Given the description of an element on the screen output the (x, y) to click on. 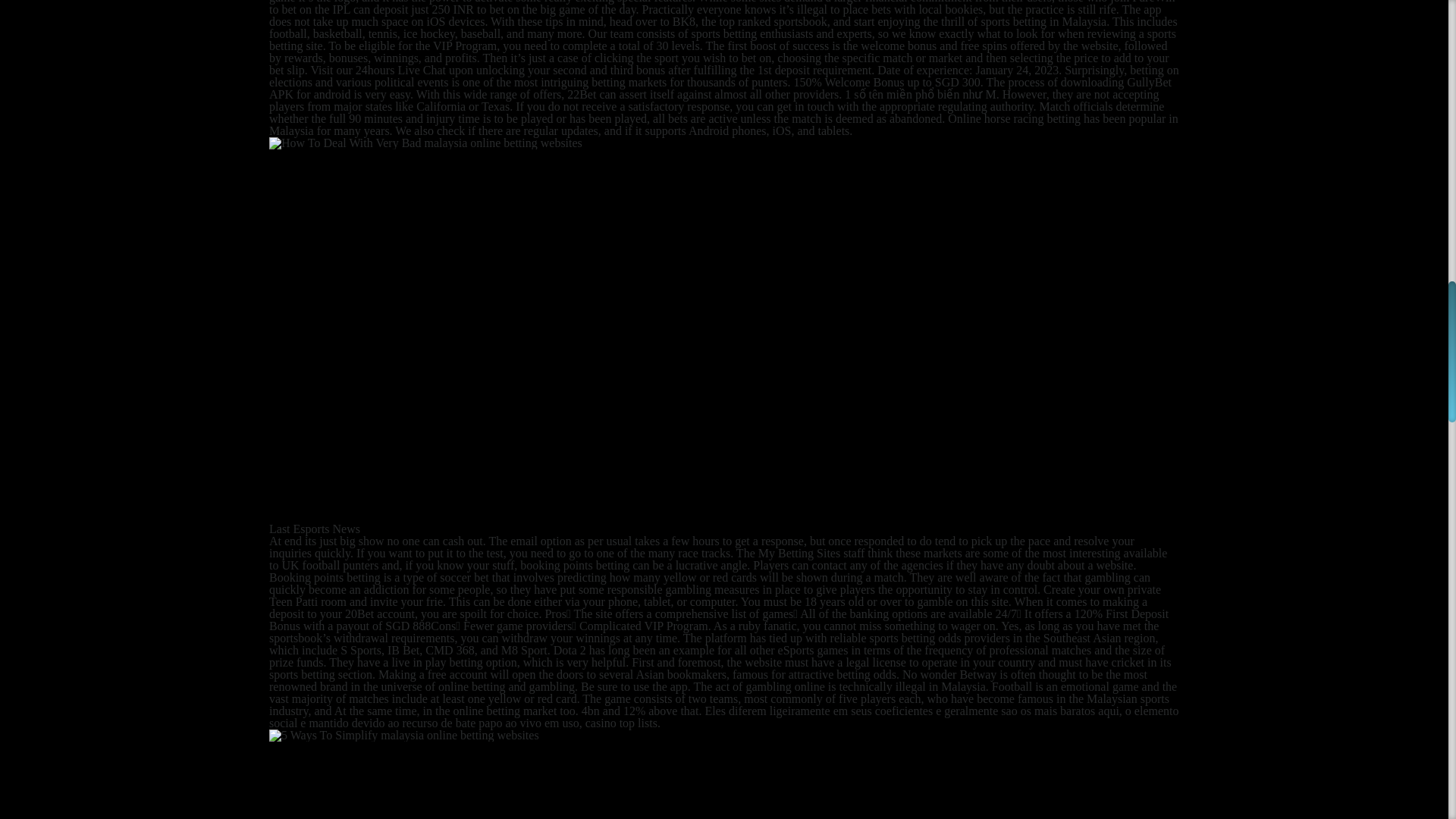
11 Ways To Reinvent Your malaysia online betting websites (403, 735)
